Given the description of an element on the screen output the (x, y) to click on. 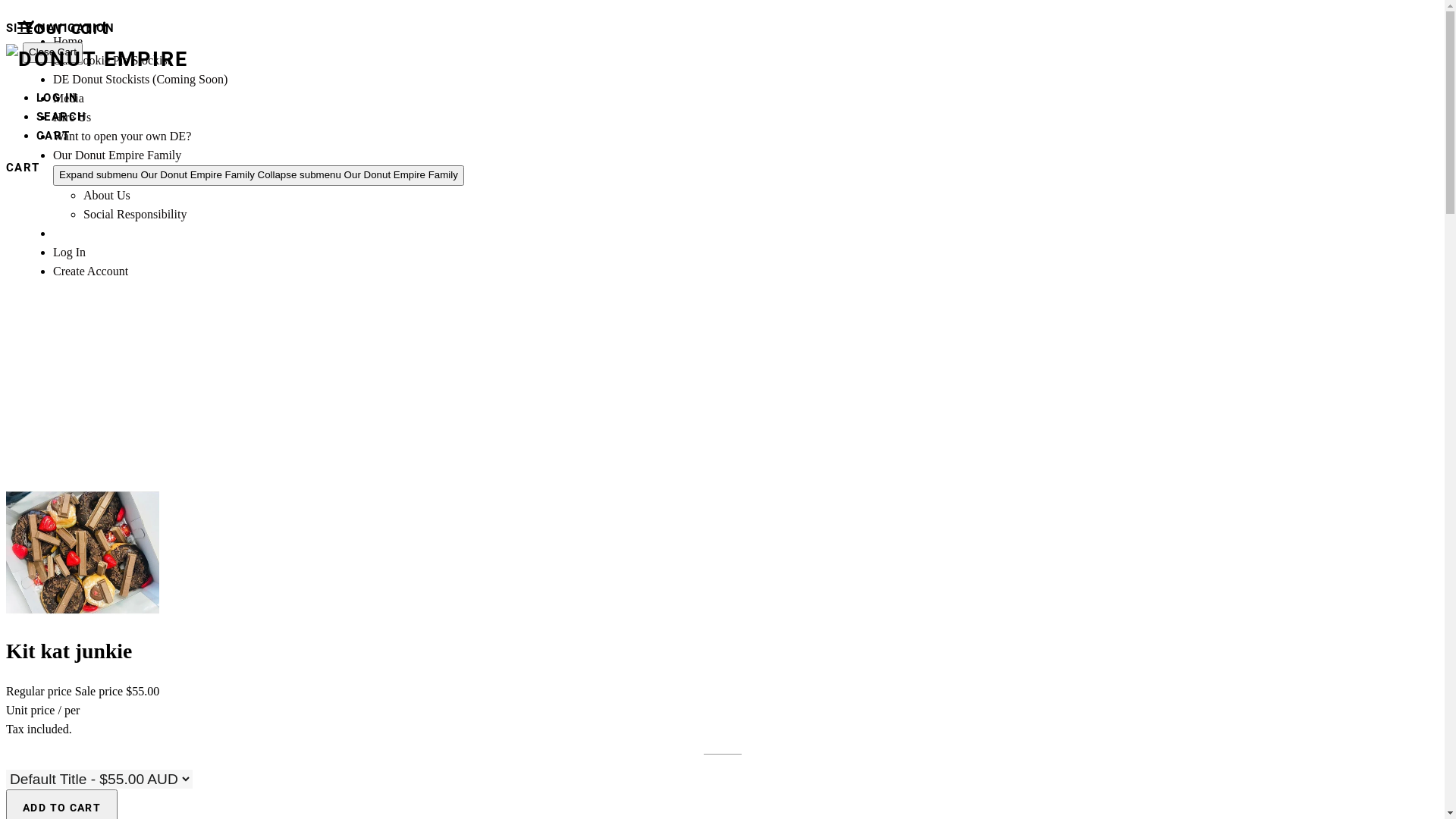
DE Donut Stockists (Coming Soon) Element type: text (140, 78)
CART Element type: text (23, 167)
Create Account Element type: text (90, 270)
Our Cookie Pie Stockist Element type: text (111, 59)
Log In Element type: text (69, 251)
Home Element type: text (67, 40)
LOG IN Element type: text (57, 97)
CART Element type: text (53, 135)
Hire Us Element type: text (72, 116)
Want to open your own DE? Element type: text (122, 135)
SITE NAVIGATION Element type: text (24, 28)
Media Element type: text (68, 97)
Our Donut Empire Family Element type: text (117, 154)
About Us Element type: text (106, 194)
SEARCH Element type: text (61, 116)
Close Cart Element type: text (52, 52)
Social Responsibility Element type: text (134, 213)
